Given the description of an element on the screen output the (x, y) to click on. 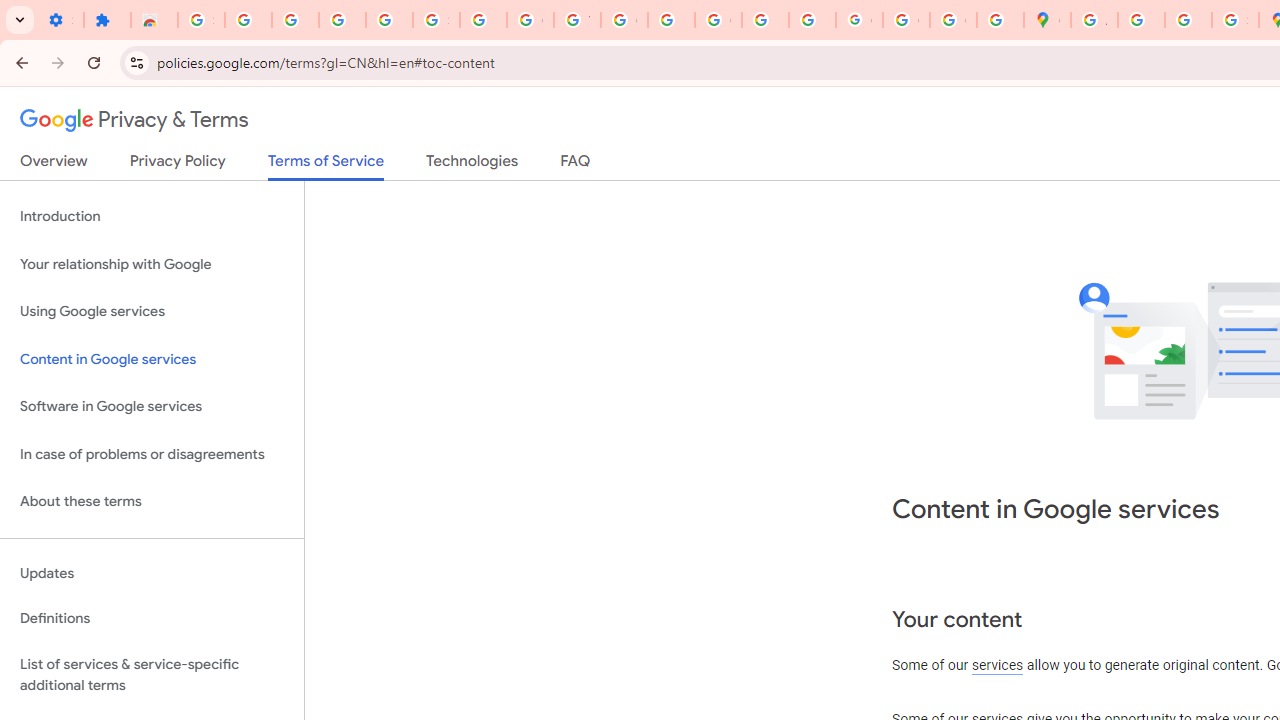
Sign in - Google Accounts (201, 20)
In case of problems or disagreements (152, 453)
Your relationship with Google (152, 263)
Reviews: Helix Fruit Jump Arcade Game (153, 20)
